Given the description of an element on the screen output the (x, y) to click on. 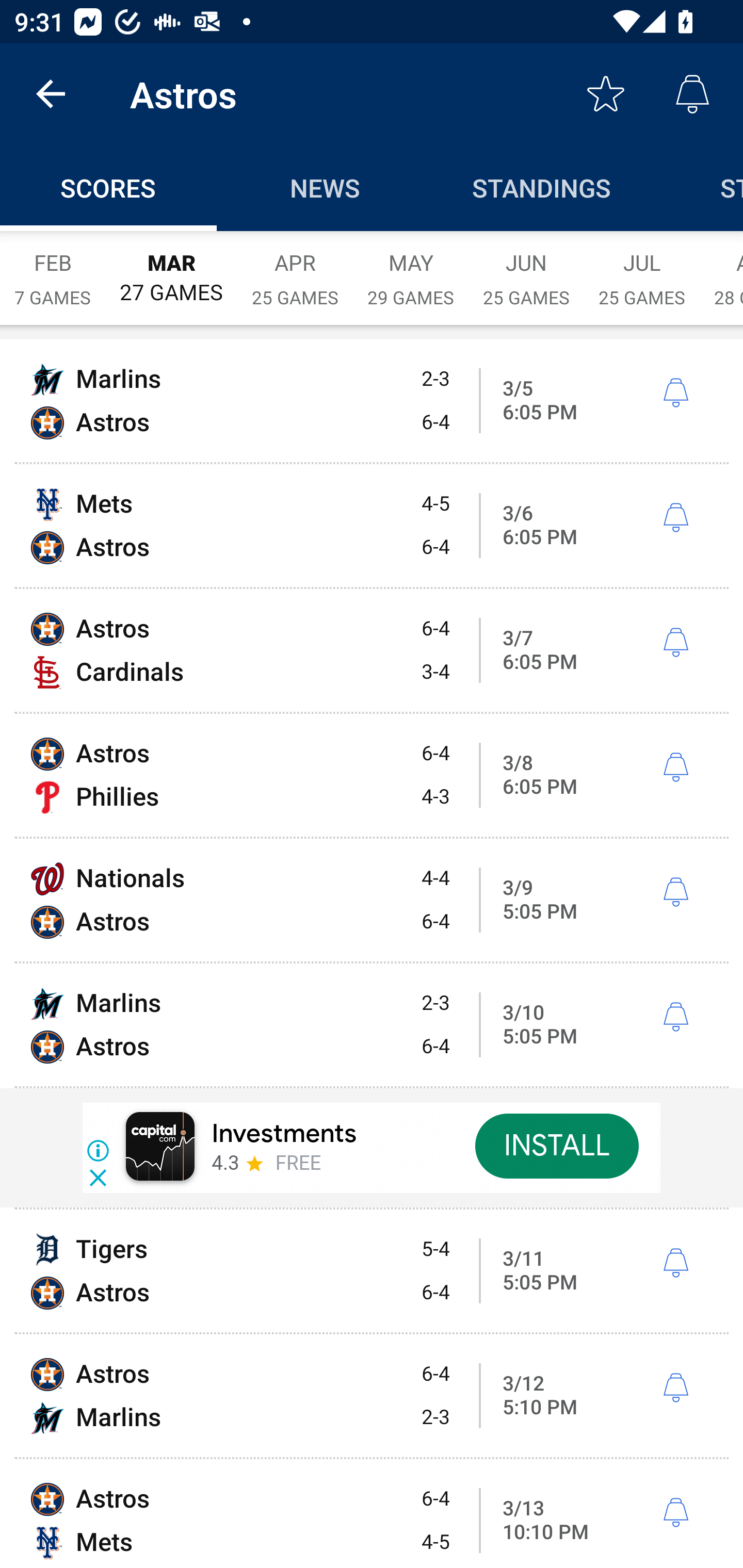
back.button (50, 93)
Favorite toggle (605, 93)
Alerts (692, 93)
News NEWS (324, 187)
Standings STANDINGS (541, 187)
FEB 7 GAMES (52, 268)
MAR 27 GAMES (171, 267)
APR 25 GAMES (294, 268)
MAY 29 GAMES (410, 268)
JUN 25 GAMES (525, 268)
JUL 25 GAMES (641, 268)
Marlins 2-3 Astros 6-4 3/5 6:05 PM í (371, 400)
í (675, 392)
Mets 4-5 Astros 6-4 3/6 6:05 PM í (371, 525)
í (675, 517)
Astros 6-4 Cardinals 3-4 3/7 6:05 PM í (371, 650)
í (675, 642)
Astros 6-4 Phillies 4-3 3/8 6:05 PM í (371, 775)
í (675, 767)
Nationals 4-4 Astros 6-4 3/9 5:05 PM í (371, 899)
í (675, 892)
Marlins 2-3 Astros 6-4 3/10 5:05 PM í (371, 1024)
í (675, 1016)
INSTALL (556, 1146)
Investments (283, 1133)
Tigers 5-4 Astros 6-4 3/11 5:05 PM í (371, 1270)
í (675, 1262)
Astros 6-4 Marlins 2-3 3/12 5:10 PM í (371, 1395)
í (675, 1388)
Astros 6-4 Mets 4-5 3/13 10:10 PM í (371, 1513)
í (675, 1512)
